Given the description of an element on the screen output the (x, y) to click on. 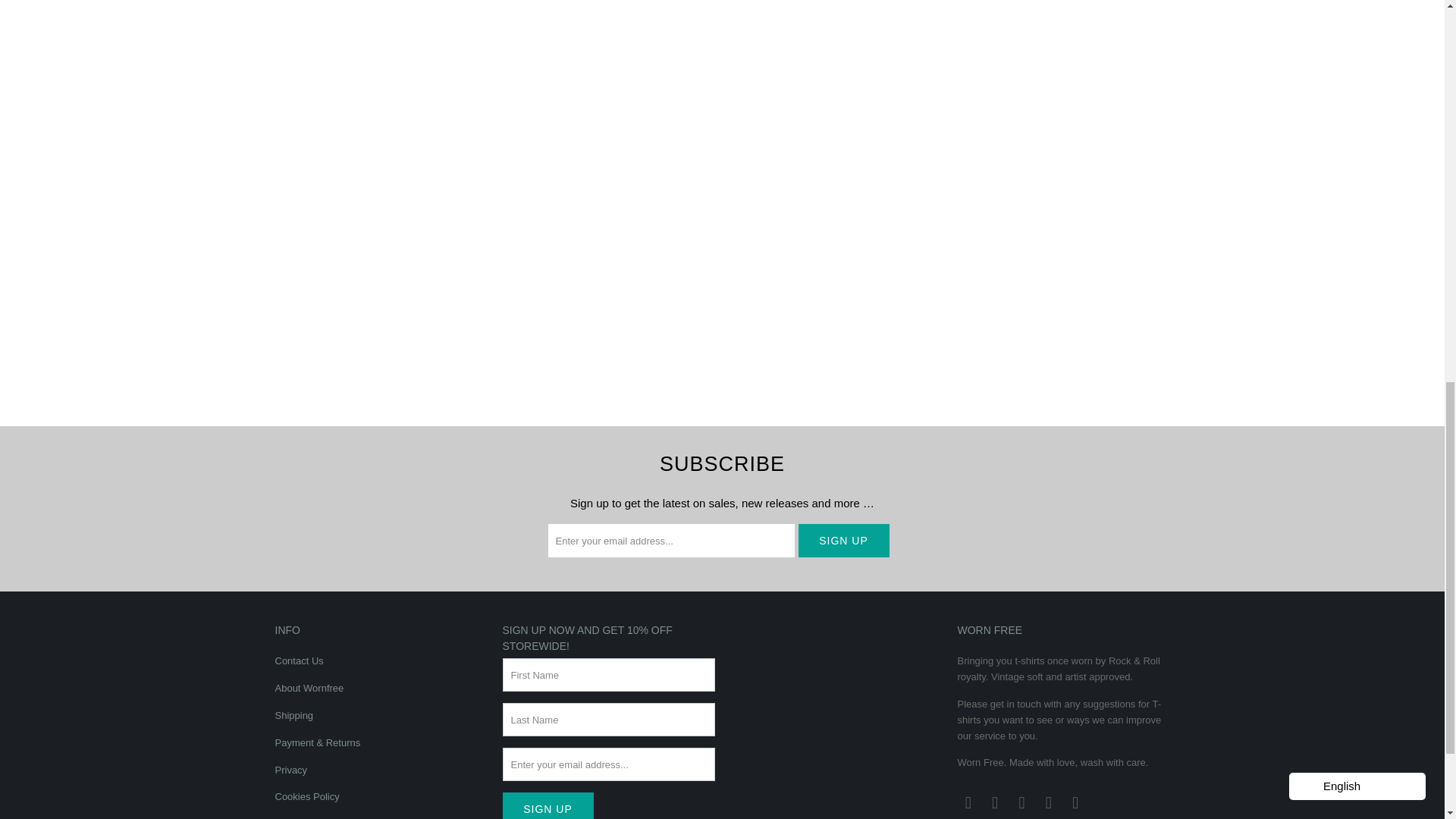
Sign Up (842, 540)
Worn Free on Facebook (995, 802)
Email Worn Free (967, 802)
Sign Up (547, 805)
Worn Free on Instagram (1021, 802)
Worn Free on Tumblr (1047, 802)
